Given the description of an element on the screen output the (x, y) to click on. 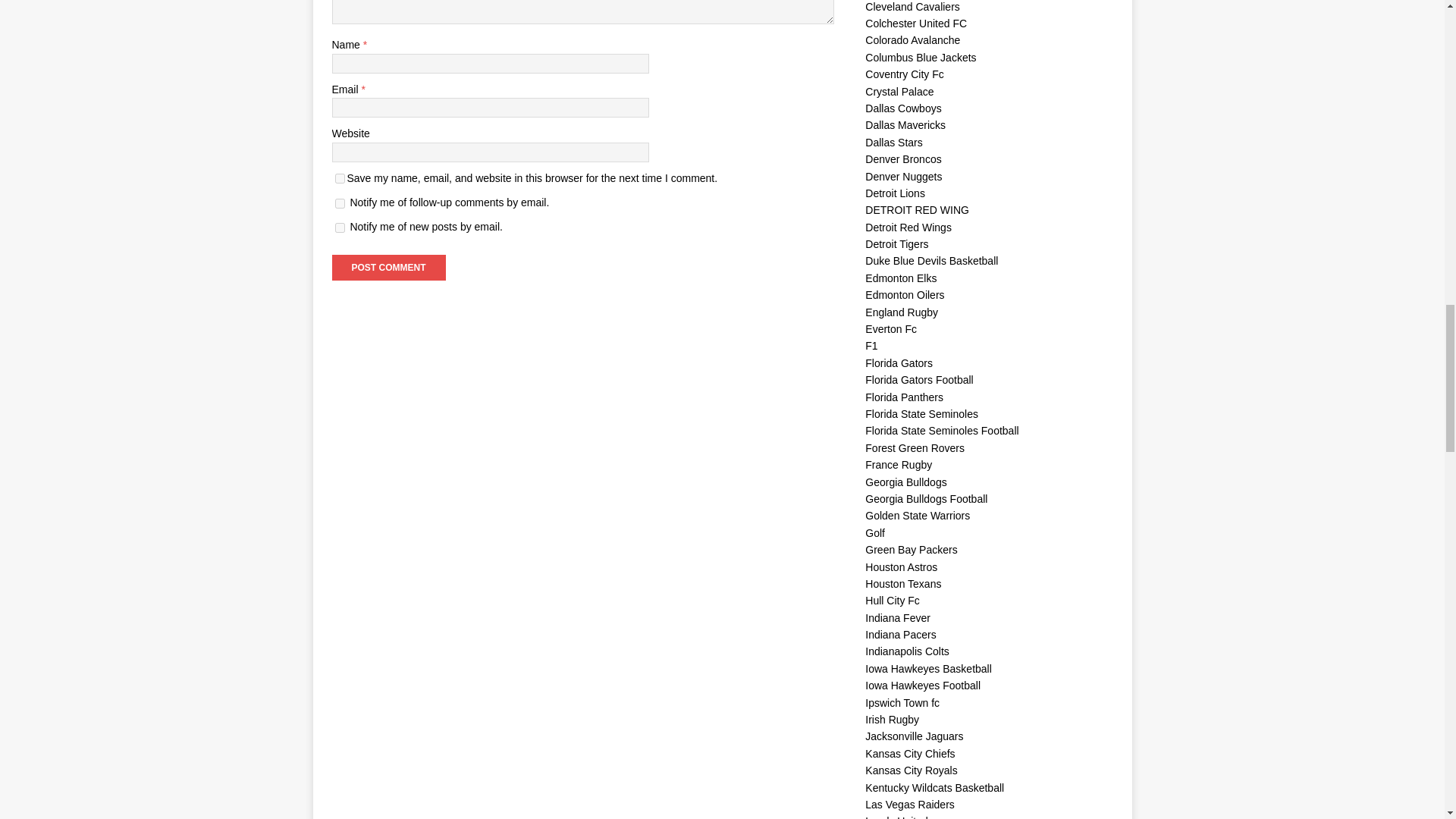
yes (339, 178)
Post Comment (388, 267)
Post Comment (388, 267)
subscribe (339, 203)
subscribe (339, 227)
